Given the description of an element on the screen output the (x, y) to click on. 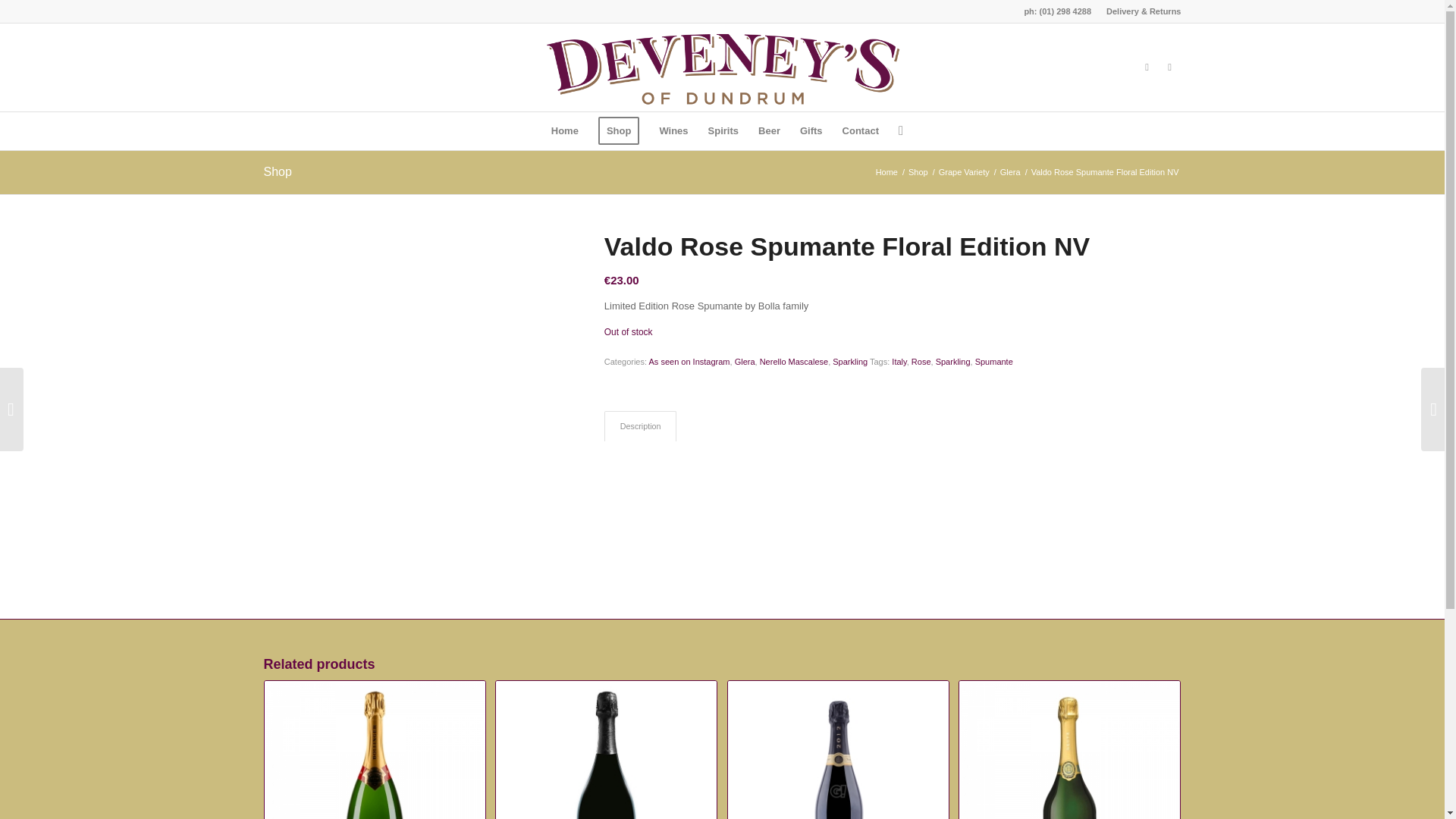
Spirits (723, 130)
Glera (1010, 172)
Grape Variety (963, 172)
Twitter (1169, 67)
Home (564, 130)
Instagram (1146, 67)
Wines (673, 130)
Shop (618, 130)
Deveney's Dundrum (886, 172)
Shop (917, 172)
Permanent Link: Shop (277, 171)
